Given the description of an element on the screen output the (x, y) to click on. 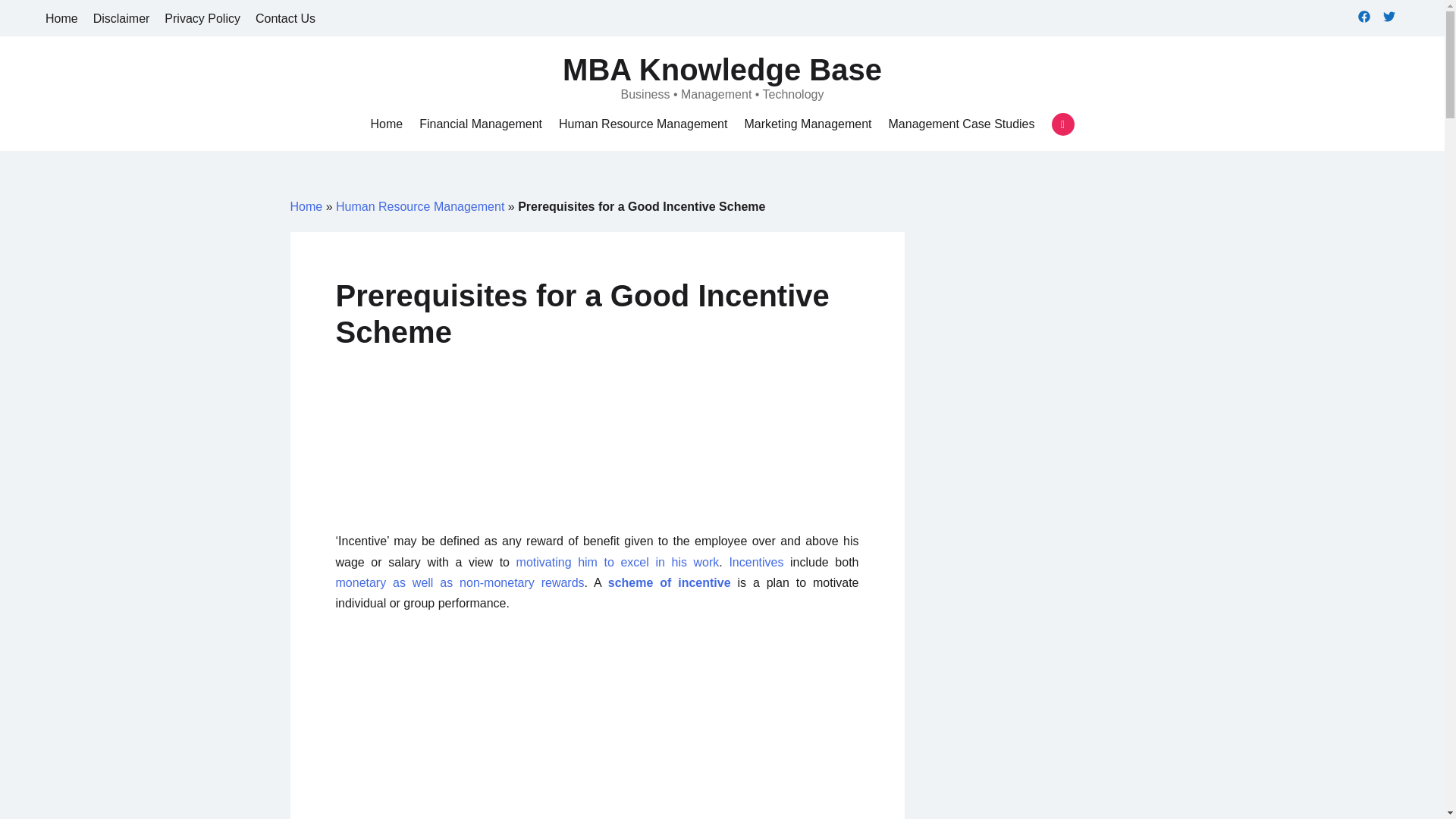
Home (386, 123)
Search (37, 16)
Home (386, 123)
Home (61, 18)
Incentives (756, 562)
Privacy Policy (202, 18)
Human Resource Management (419, 205)
Contact Us (285, 18)
MBA Knowledge Base (722, 69)
Home (305, 205)
Management Case Studies (961, 123)
Desirable conditions for the success of an incentive scheme (756, 562)
Desirable conditions for the success of an incentive scheme (669, 582)
motivating him to excel in his work (617, 562)
Disclaimer (121, 18)
